Given the description of an element on the screen output the (x, y) to click on. 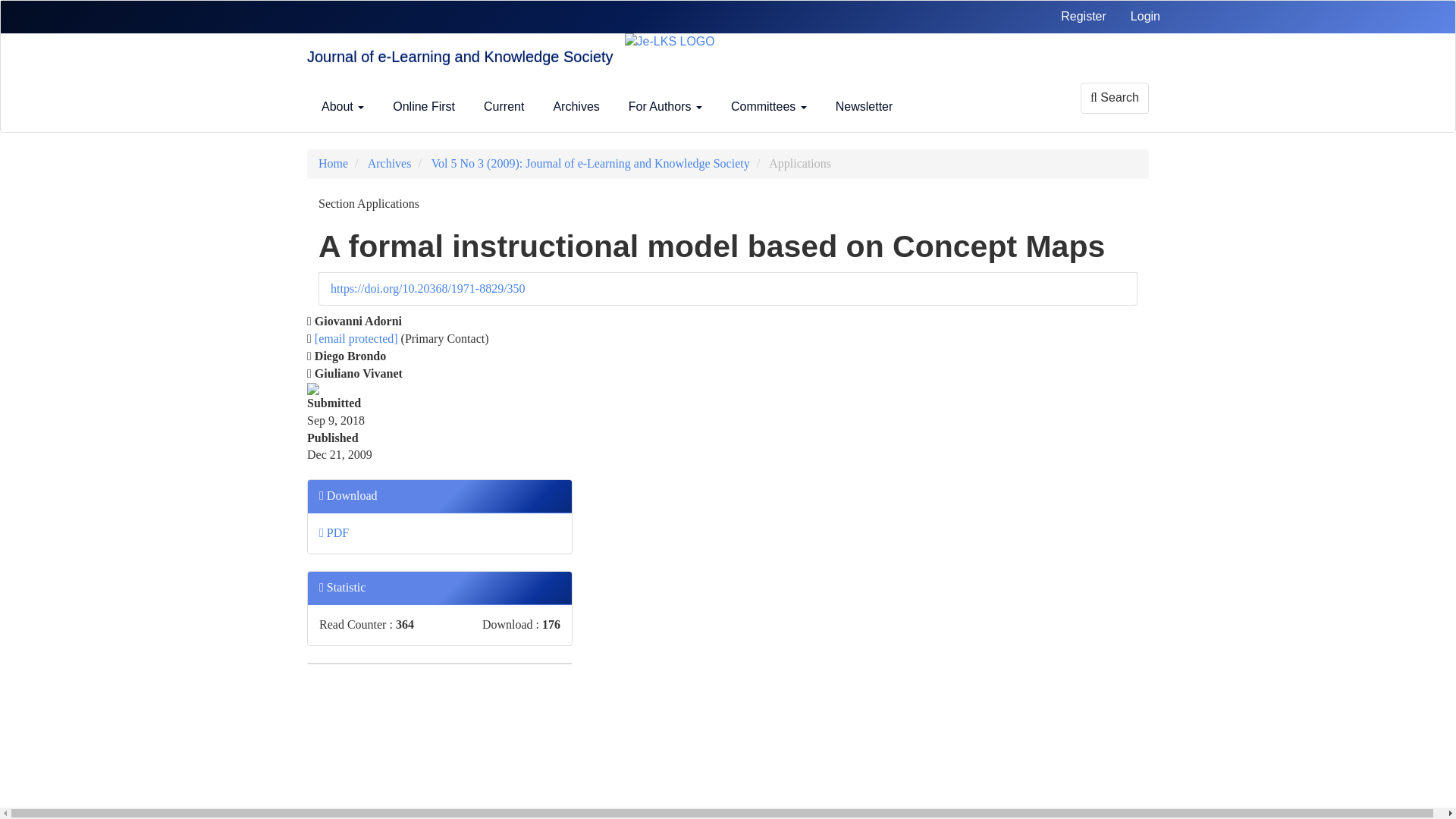
Search (1114, 97)
Login (1145, 16)
For Authors (664, 106)
About (342, 106)
Online First (423, 106)
Search (1114, 97)
Register (1083, 16)
Current (504, 106)
Archives (575, 106)
Journal of e-Learning and Knowledge Society (459, 57)
Newsletter (863, 106)
Committees (768, 106)
Archives (390, 163)
Home (332, 163)
